Given the description of an element on the screen output the (x, y) to click on. 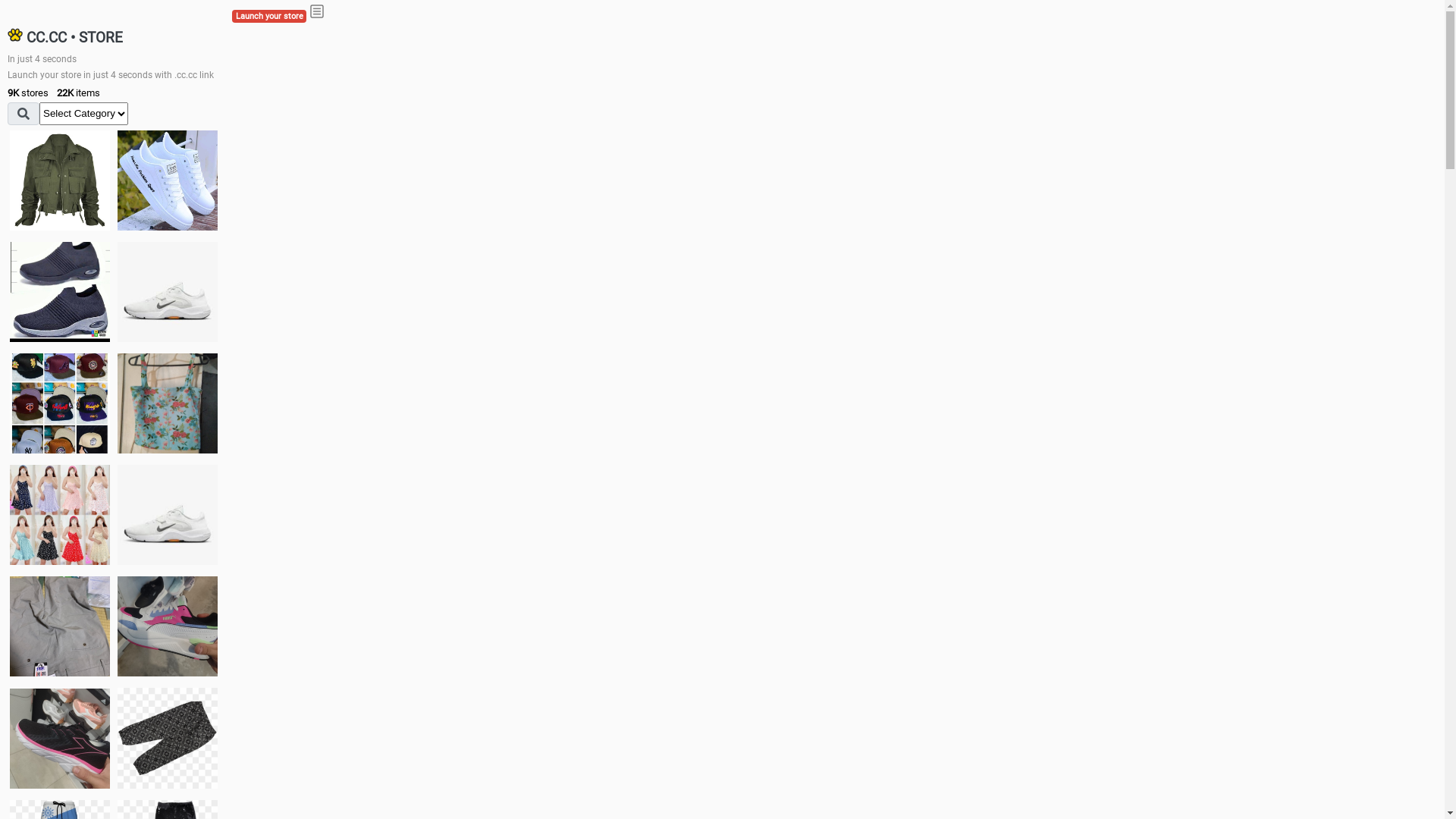
Launch your store Element type: text (269, 15)
jacket Element type: hover (59, 180)
Ukay cloth Element type: hover (167, 403)
Zapatillas Element type: hover (59, 738)
shoes for boys Element type: hover (59, 291)
Shoes Element type: hover (167, 514)
Zapatillas pumas Element type: hover (167, 626)
white shoes Element type: hover (167, 180)
Short pant Element type: hover (167, 737)
Things we need Element type: hover (59, 403)
Shoes for boys Element type: hover (167, 291)
Dress/square nect top Element type: hover (59, 514)
